Given the description of an element on the screen output the (x, y) to click on. 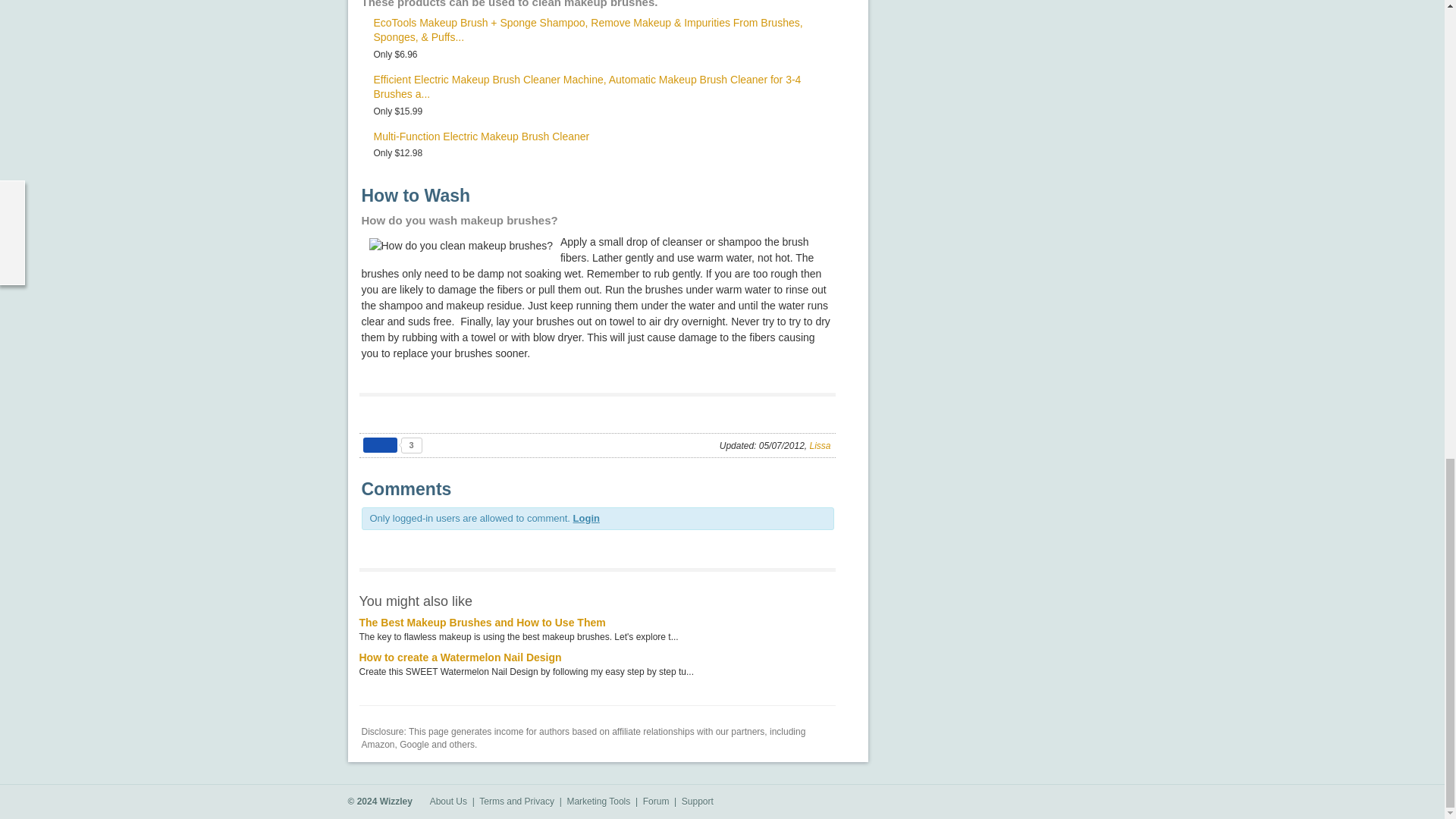
Facebook (1064, 802)
How do you clean makeup brushes? (459, 245)
Login (586, 518)
Lissa (819, 445)
Twitter (1087, 802)
Multi-Function Electric Makeup Brush Cleaner (480, 136)
How to create a Watermelon Nail Design (460, 657)
The Best Makeup Brushes and How to Use Them (482, 622)
